Given the description of an element on the screen output the (x, y) to click on. 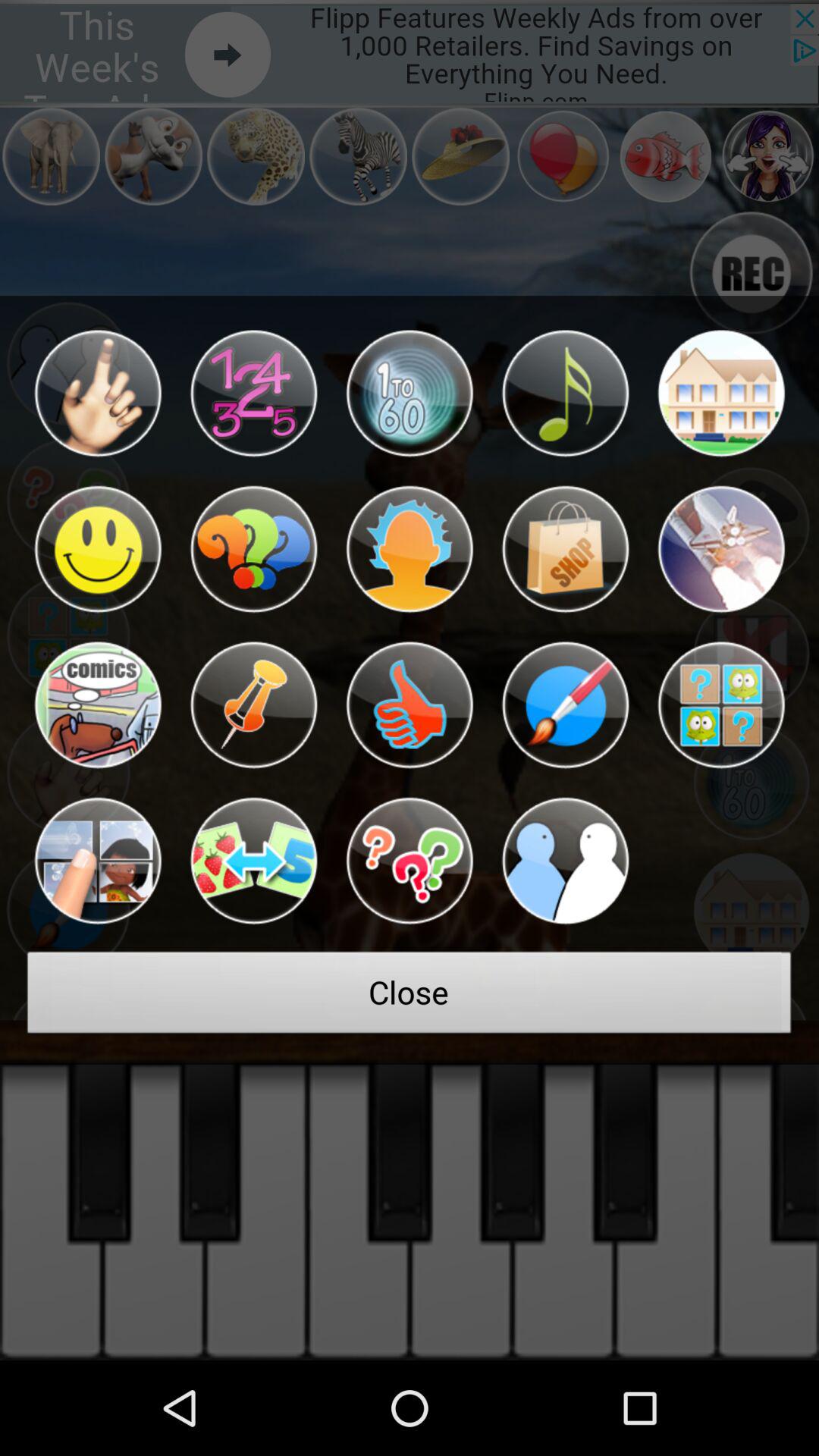
select this option (253, 861)
